Given the description of an element on the screen output the (x, y) to click on. 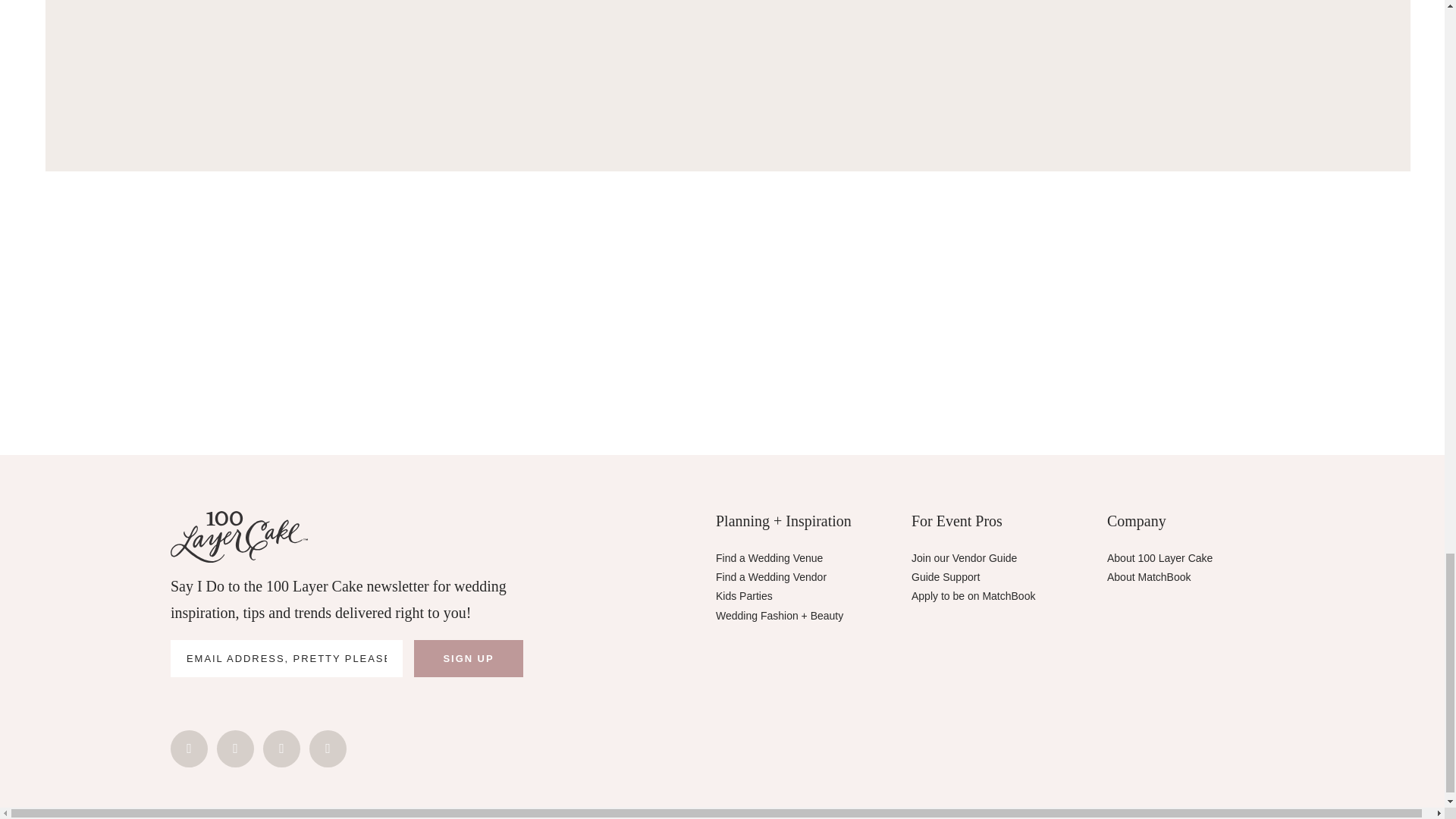
Find a Wedding Venue (769, 558)
Sign Up (467, 658)
Sign Up (467, 658)
